Given the description of an element on the screen output the (x, y) to click on. 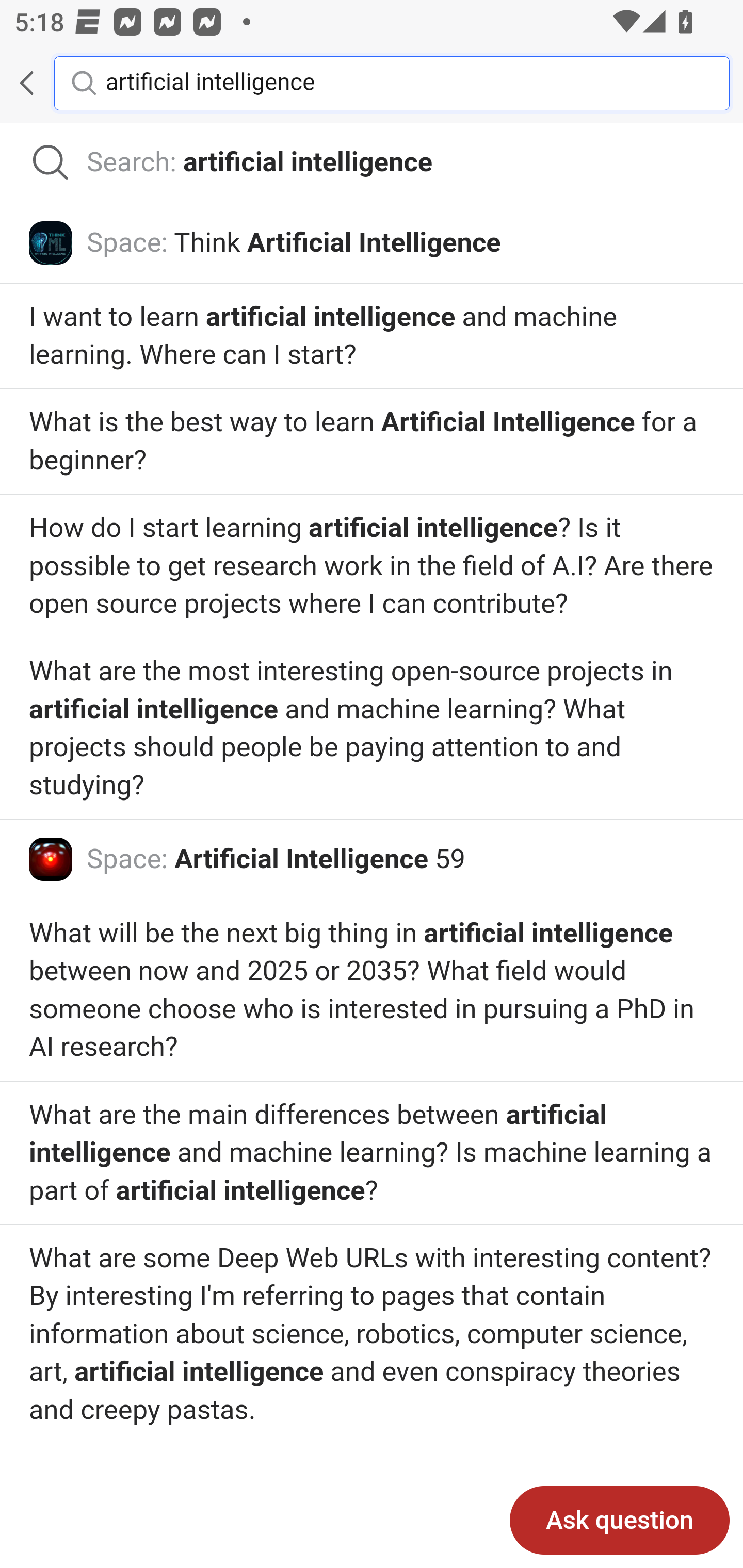
Me (64, 83)
artificial intelligence (402, 82)
Search: at (371, 162)
Icon for Think Artificial Intelligence (50, 241)
Icon for Artificial Intelligence 59 (50, 859)
